Given the description of an element on the screen output the (x, y) to click on. 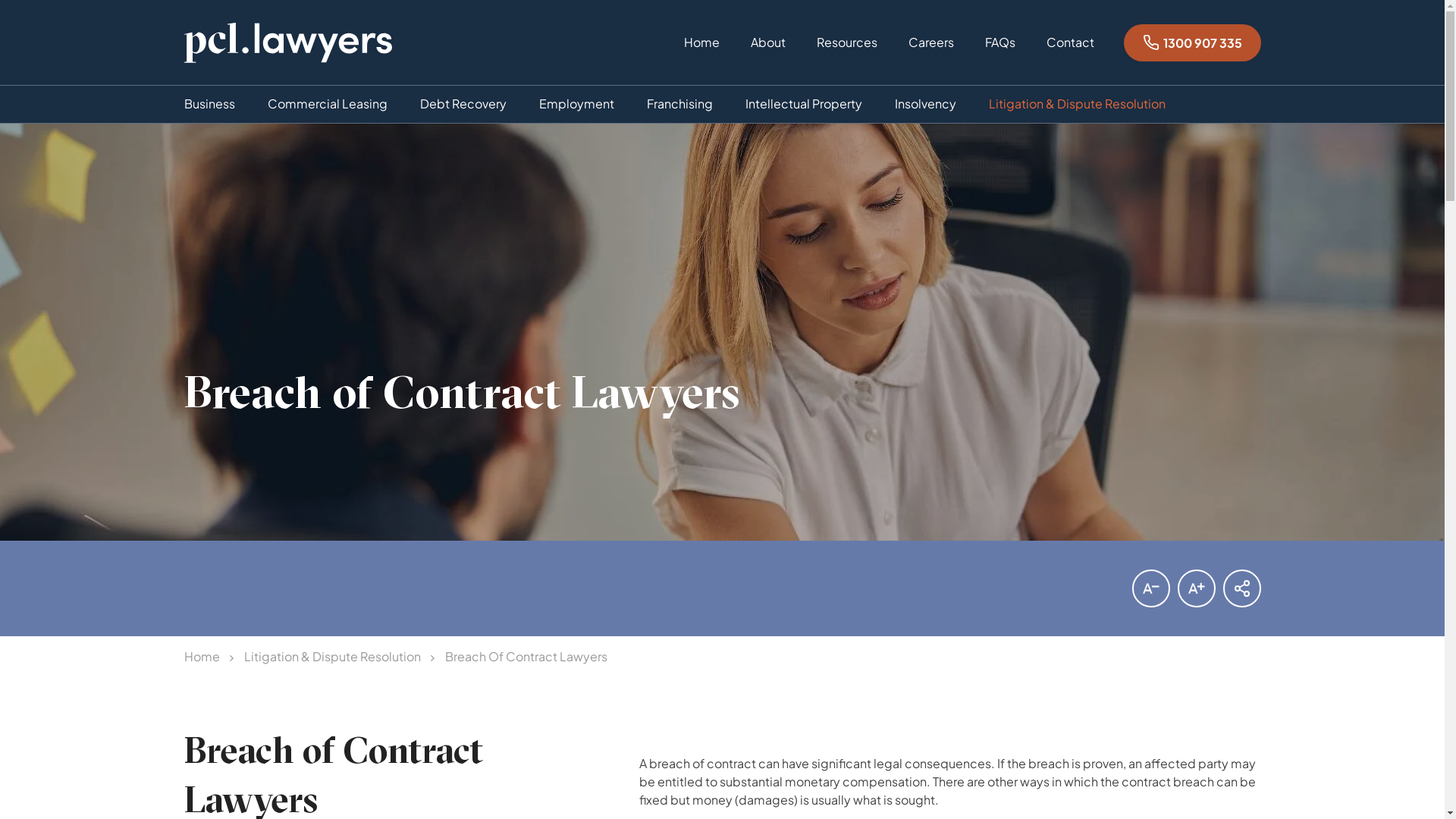
Home Element type: text (201, 656)
Debt Recovery Element type: text (463, 103)
1300 907 335 Element type: text (1192, 42)
Resources Element type: text (845, 51)
Intellectual Property Element type: text (802, 103)
Careers Element type: text (930, 51)
Litigation & Dispute Resolution Element type: text (1076, 103)
FAQs Element type: text (999, 51)
About Element type: text (767, 51)
Litigation & Dispute Resolution Element type: text (332, 656)
Employment Element type: text (575, 103)
Commercial Leasing Element type: text (326, 103)
Business Element type: text (208, 103)
PCL Lawyers Element type: hover (287, 42)
Breach Of Contract Lawyers Element type: text (525, 656)
Contact Element type: text (1070, 51)
Franchising Element type: text (679, 103)
Home Element type: text (701, 51)
Insolvency Element type: text (925, 103)
